Given the description of an element on the screen output the (x, y) to click on. 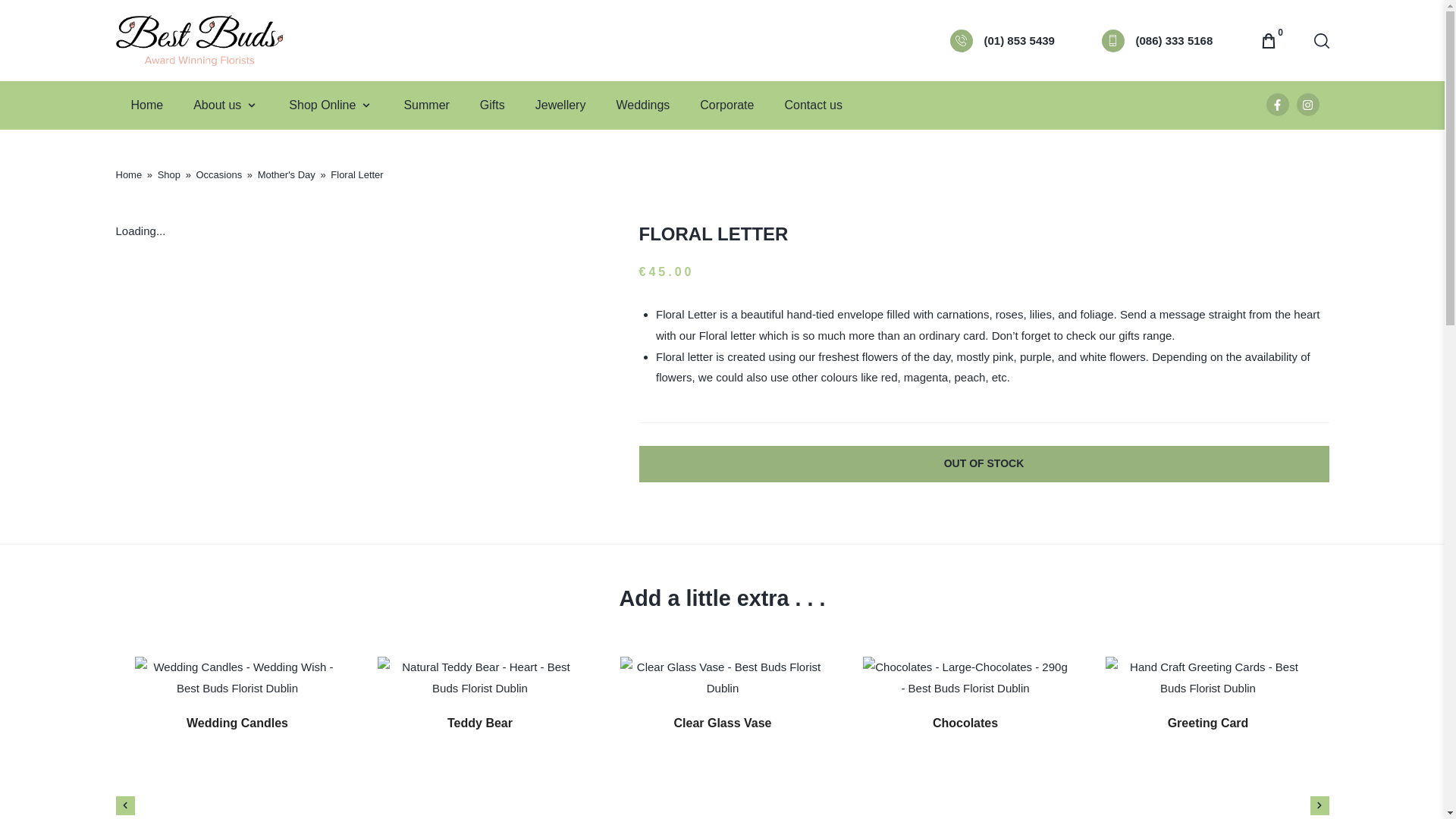
Shop Online (321, 105)
View your shopping cart (1271, 40)
About us (217, 105)
0 (1271, 40)
Home (147, 105)
Summer (425, 105)
